Given the description of an element on the screen output the (x, y) to click on. 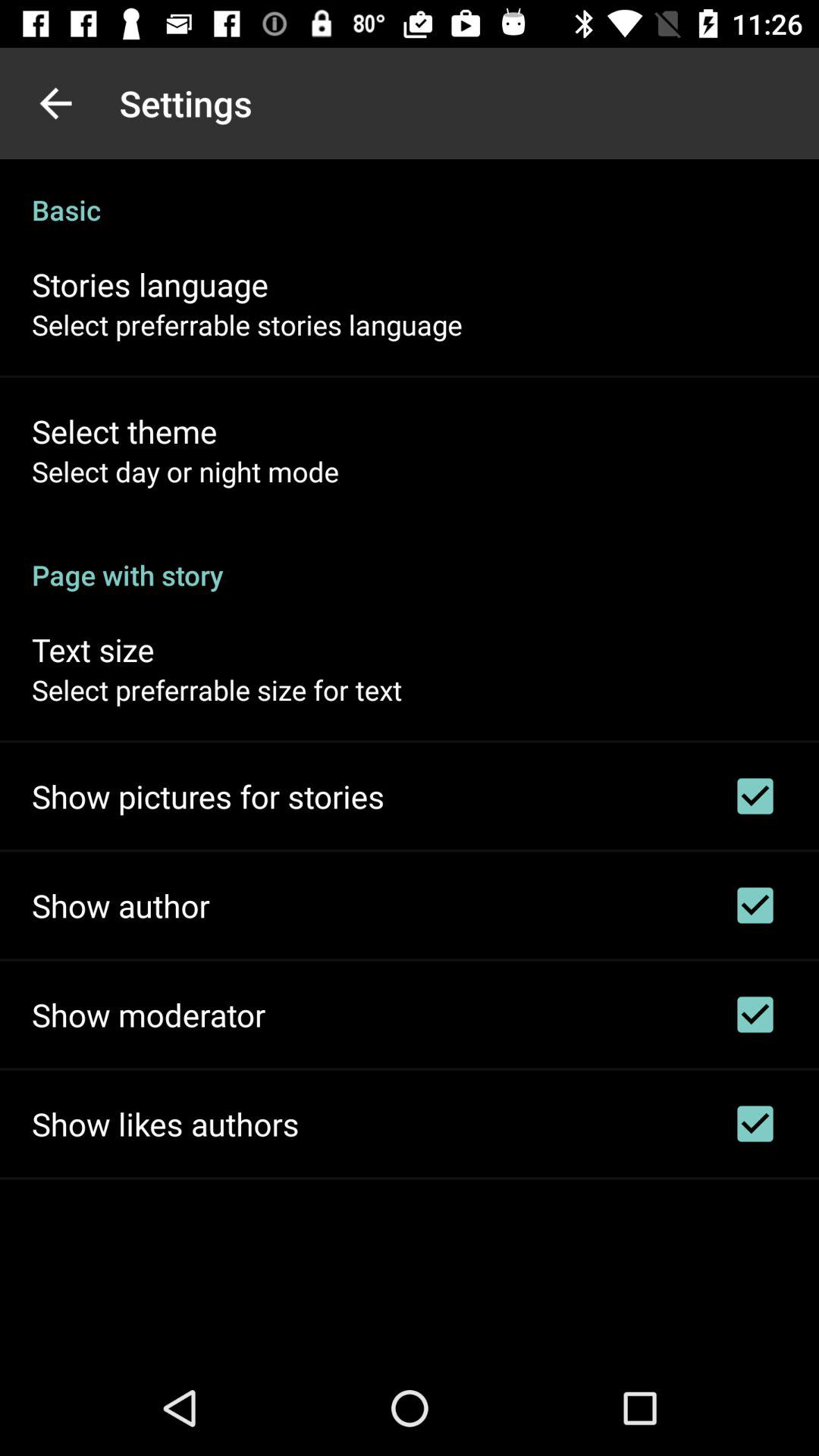
turn off show likes authors item (165, 1123)
